Given the description of an element on the screen output the (x, y) to click on. 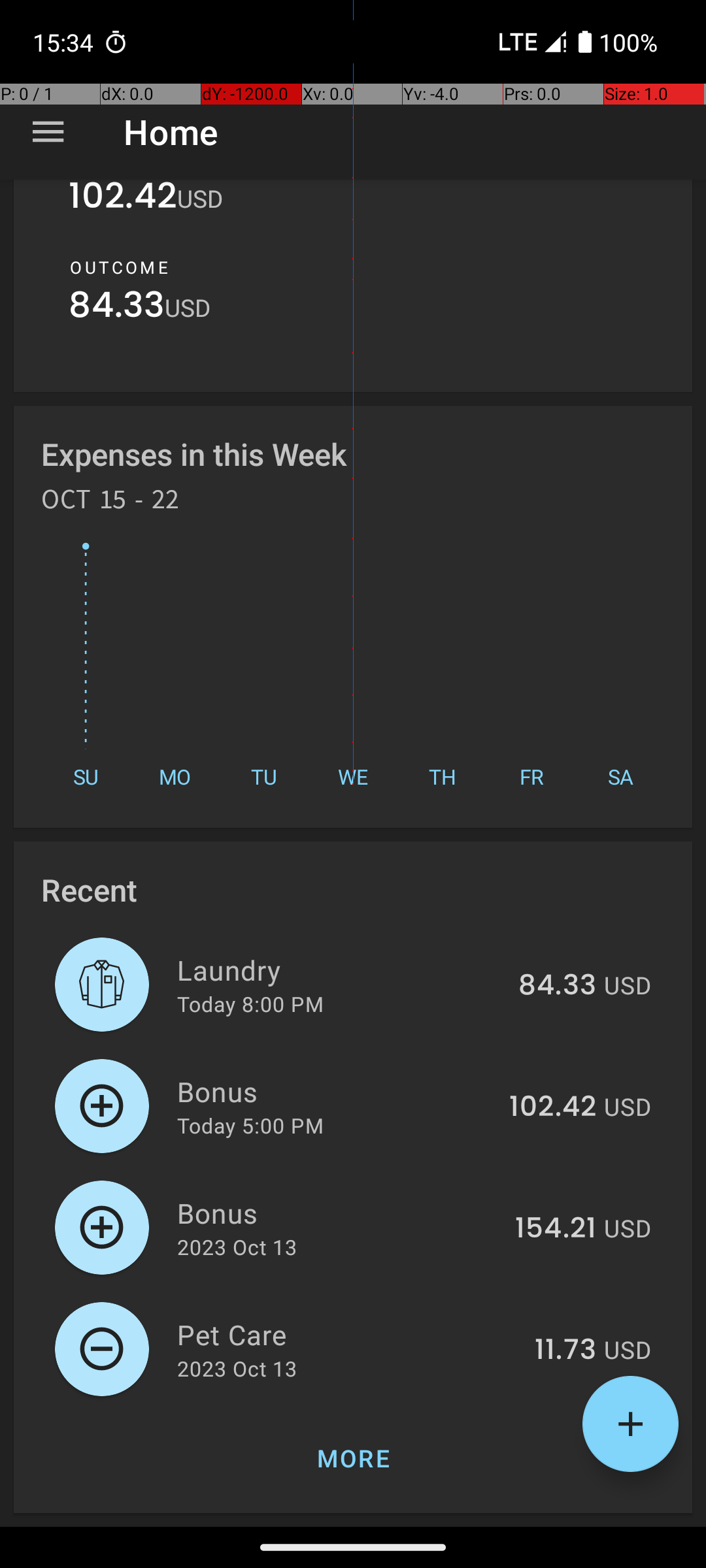
102.42 Element type: android.widget.TextView (122, 203)
84.33 Element type: android.widget.TextView (116, 307)
Laundry Element type: android.widget.TextView (340, 969)
Today 8:00 PM Element type: android.widget.TextView (250, 1003)
Bonus Element type: android.widget.TextView (335, 1091)
154.21 Element type: android.widget.TextView (555, 1228)
Pet Care Element type: android.widget.TextView (348, 1334)
11.73 Element type: android.widget.TextView (565, 1350)
